Given the description of an element on the screen output the (x, y) to click on. 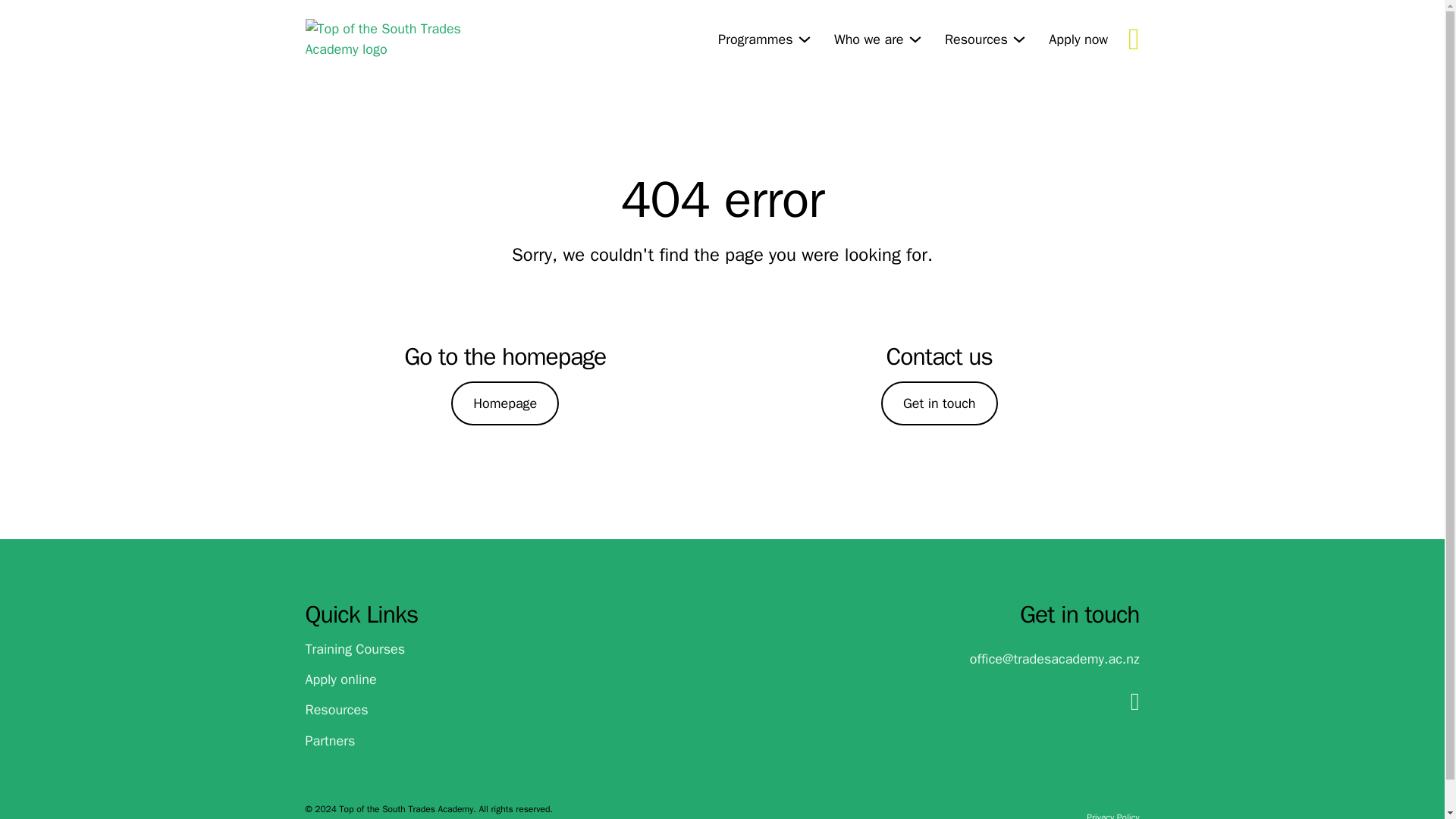
Apply now (1078, 38)
Programmes (755, 38)
Who we are (869, 38)
Resources (975, 38)
